Given the description of an element on the screen output the (x, y) to click on. 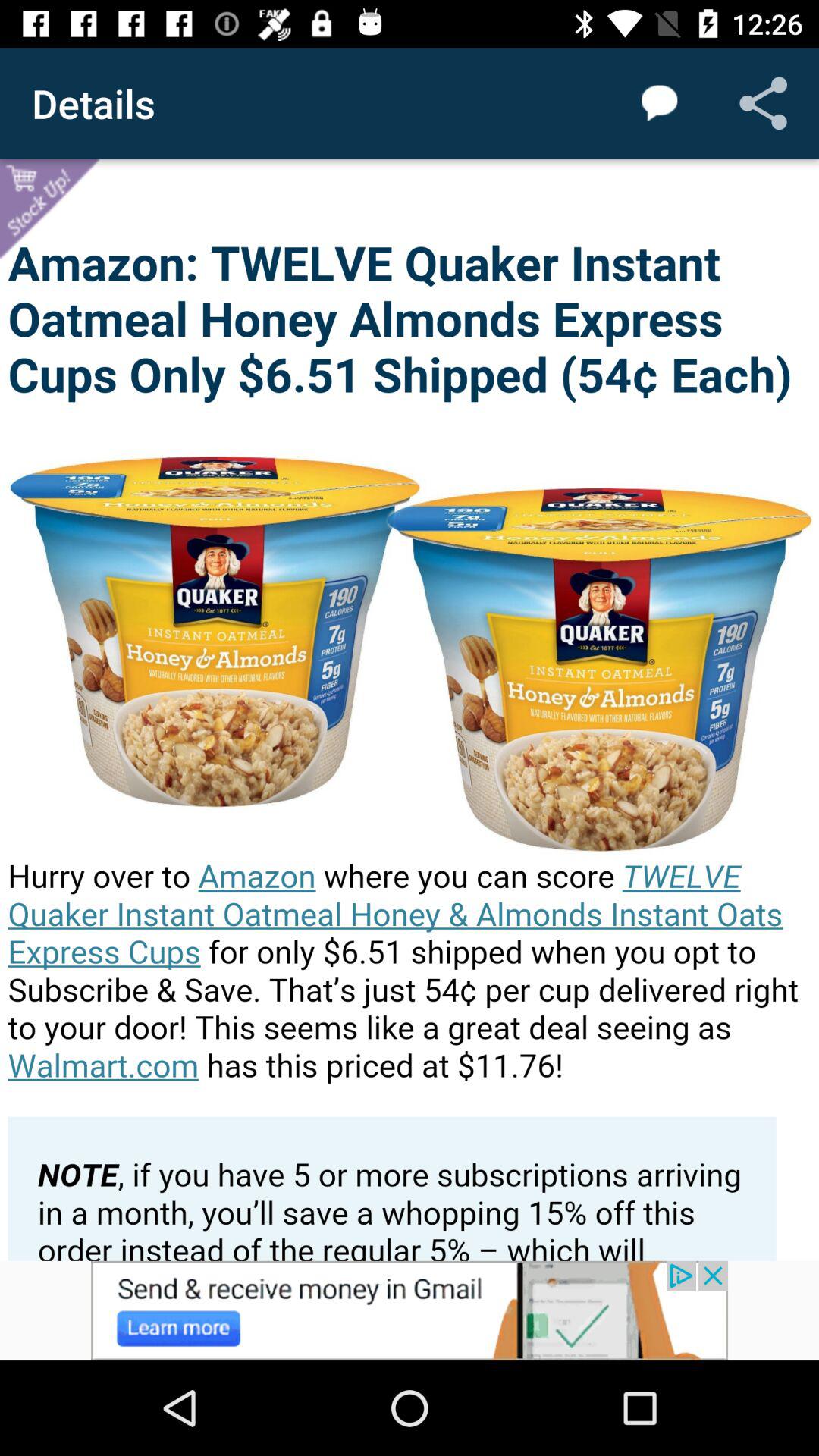
click for more info (409, 1310)
